Given the description of an element on the screen output the (x, y) to click on. 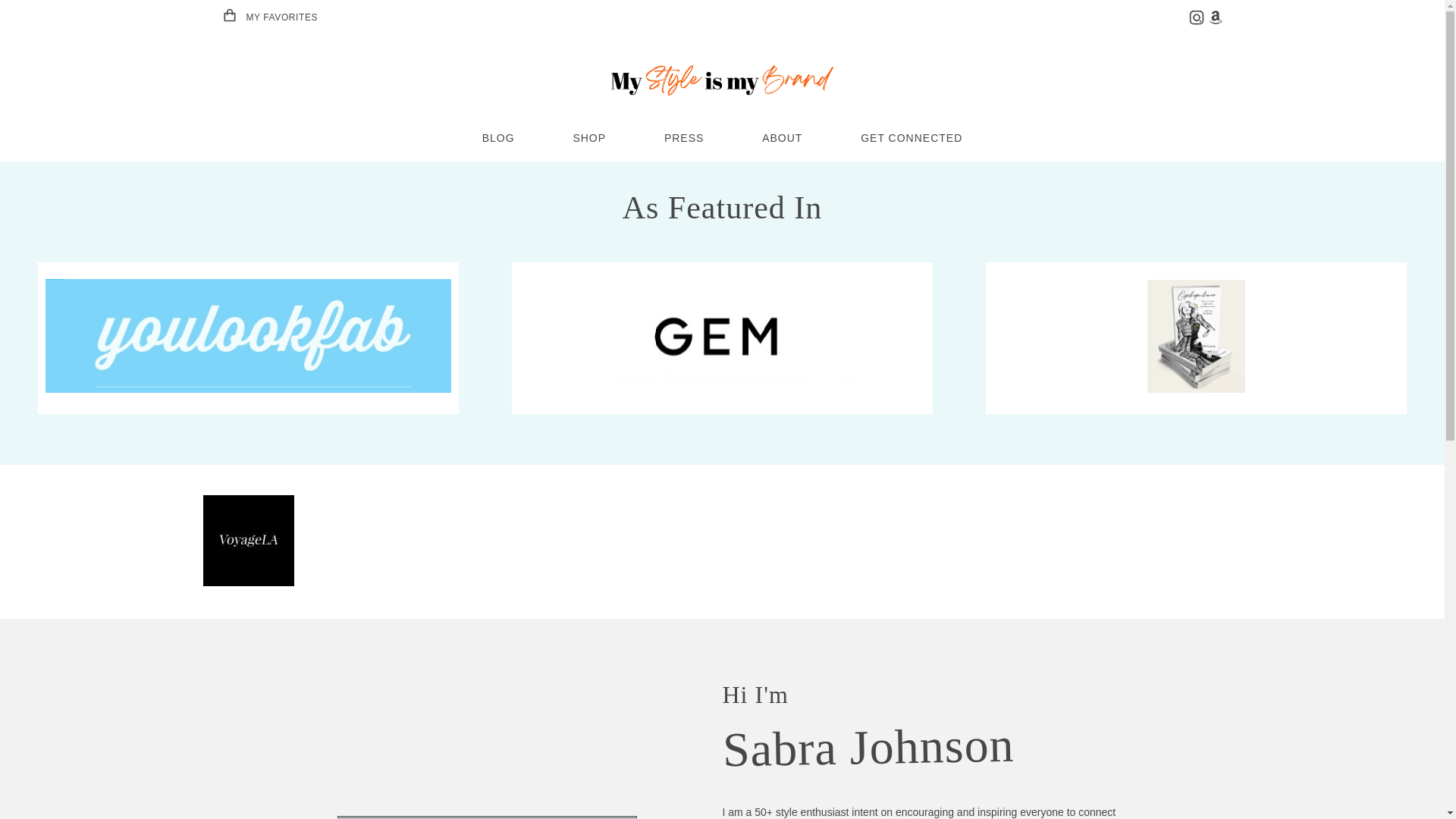
SHOP (588, 138)
MY FAVORITES (269, 17)
GET CONNECTED (911, 138)
BLOG (498, 138)
PRESS (683, 138)
ABOUT (781, 138)
